Given the description of an element on the screen output the (x, y) to click on. 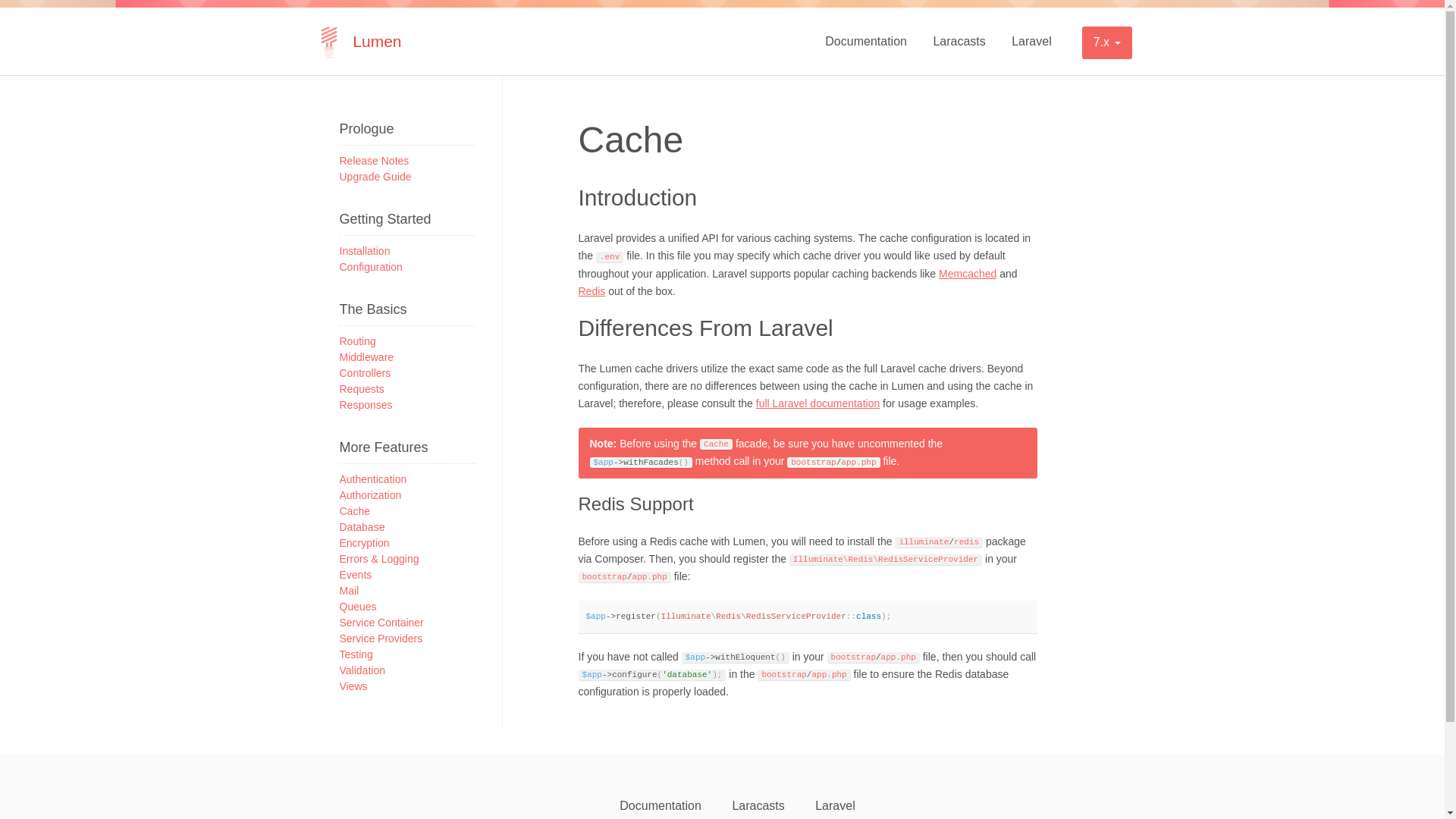
7.x (1106, 42)
Laracasts (959, 41)
Lumen (360, 41)
Laravel (1031, 41)
Documentation (866, 41)
